Given the description of an element on the screen output the (x, y) to click on. 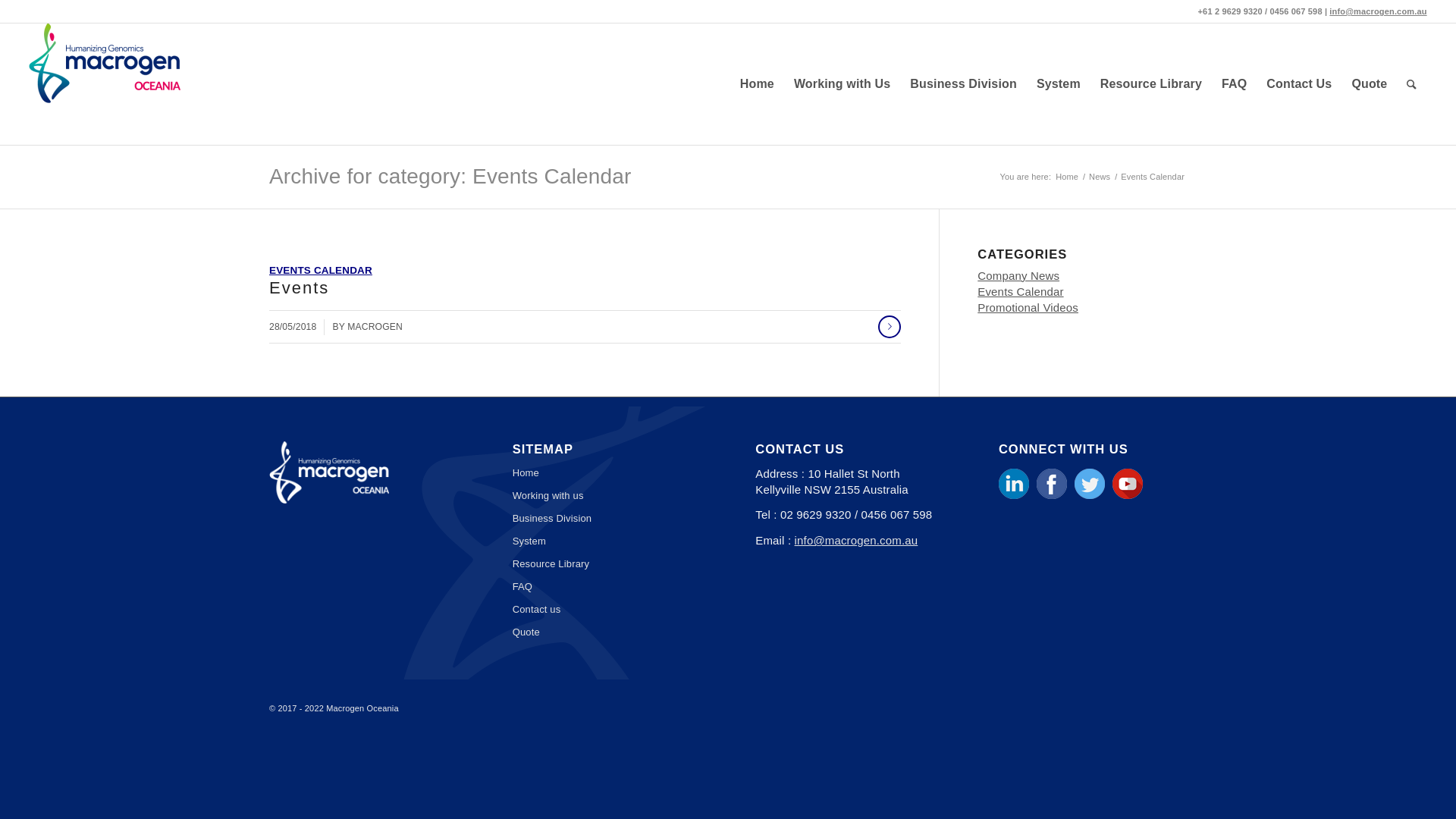
Events Element type: text (299, 287)
Promotional Videos Element type: text (1027, 307)
Home Element type: text (1066, 176)
Company News Element type: text (1018, 275)
Read more Element type: text (889, 326)
Home Element type: text (757, 83)
info@macrogen.com.au Element type: text (1377, 10)
Contact Us Element type: text (1298, 83)
info@macrogen.com.au Element type: text (856, 539)
MACROGEN Element type: text (374, 326)
System Element type: text (606, 541)
Quote Element type: text (606, 632)
Contact us Element type: text (606, 609)
Archive for category: Events Calendar Element type: text (449, 176)
Quote Element type: text (1368, 83)
Resource Library Element type: text (1150, 83)
Events Calendar Element type: text (1020, 291)
Business Division Element type: text (606, 518)
News Element type: text (1099, 176)
Business Division Element type: text (963, 83)
FAQ Element type: text (1233, 83)
EVENTS CALENDAR Element type: text (320, 270)
Working with Us Element type: text (842, 83)
Home Element type: text (606, 472)
Resource Library Element type: text (606, 563)
FAQ Element type: text (606, 586)
Working with us Element type: text (606, 495)
System Element type: text (1058, 83)
